Given the description of an element on the screen output the (x, y) to click on. 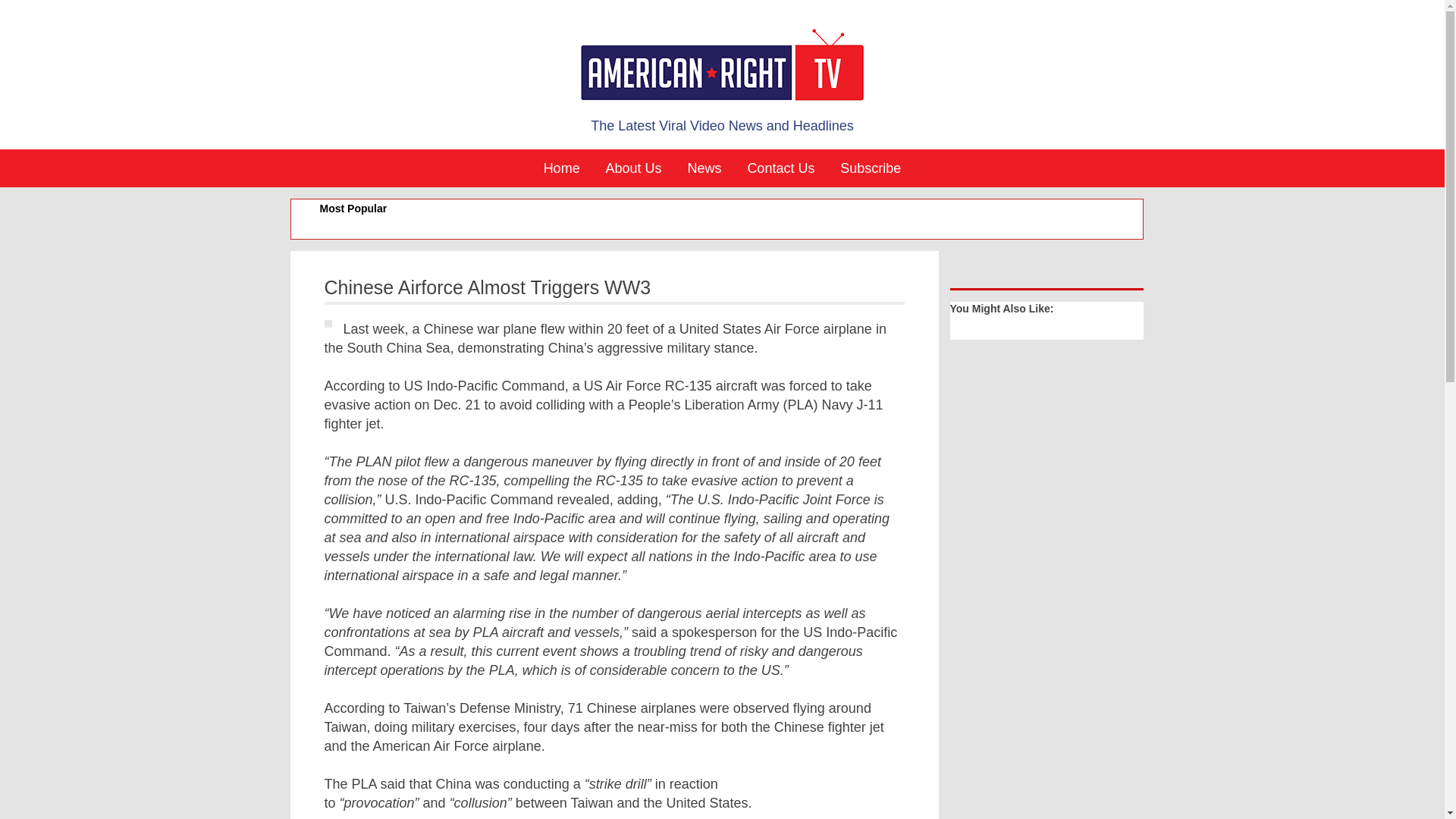
American Right Tv homepage (721, 66)
News (703, 168)
About Us (633, 168)
Home (561, 168)
Contact Us (780, 168)
Subscribe (870, 168)
